Given the description of an element on the screen output the (x, y) to click on. 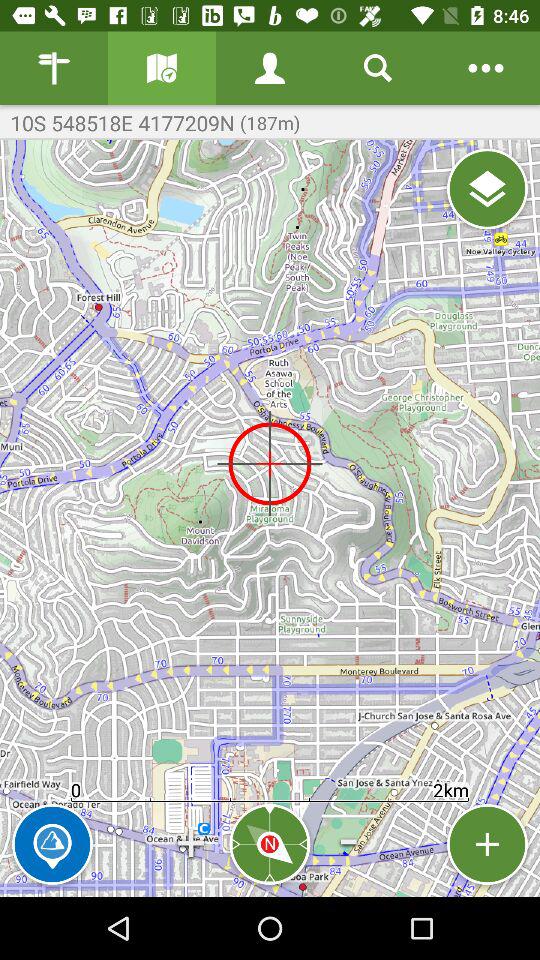
go to search (378, 68)
